Given the description of an element on the screen output the (x, y) to click on. 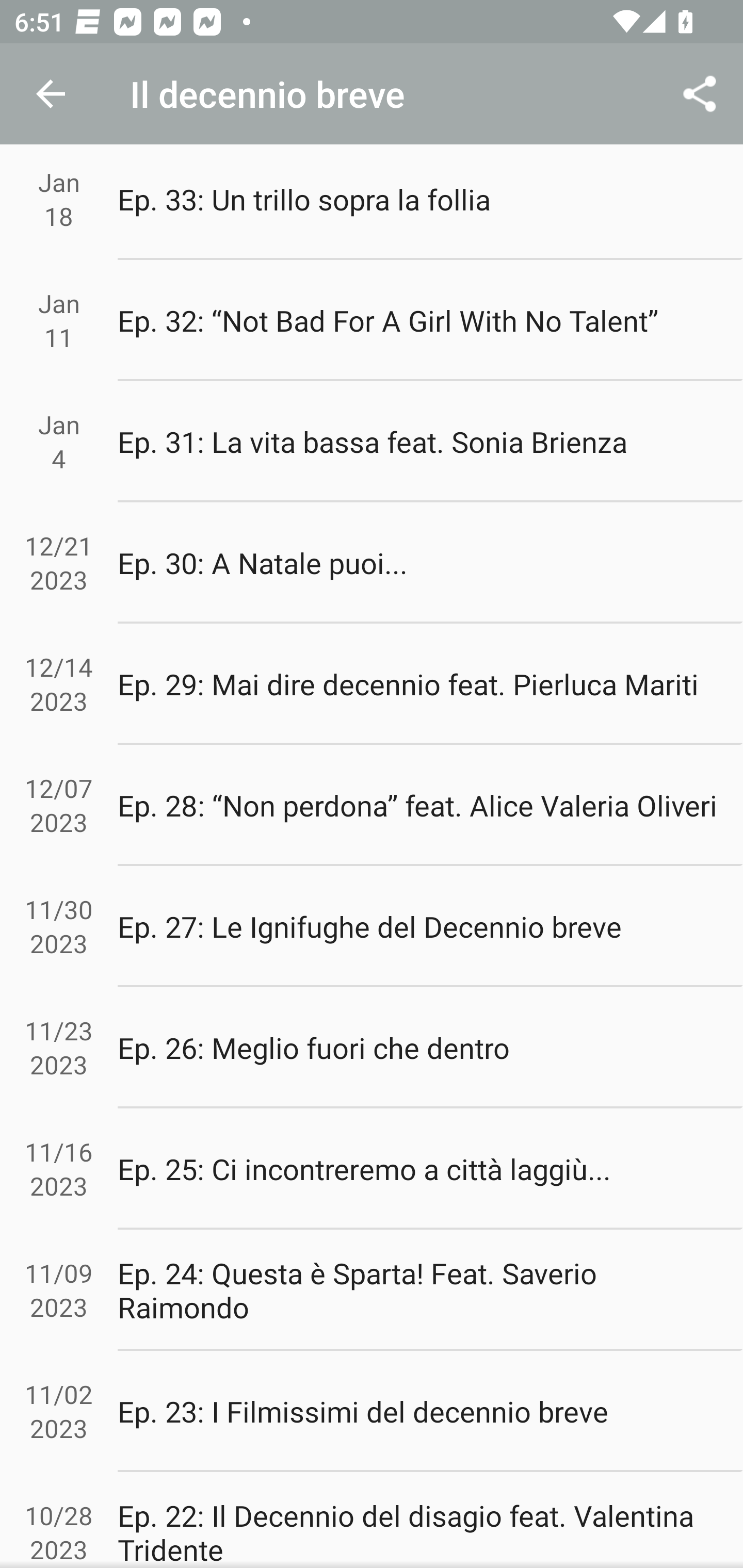
Jan 25 Ep. 34: 2011-2021: che futuro ci aspettava? (371, 90)
Navigate up (50, 93)
Share... (699, 93)
Jan 18 Ep. 33: Un trillo sopra la follia (371, 198)
Jan 11 Ep. 32: “Not Bad For A Girl With No Talent” (371, 320)
Jan 4 Ep. 31: La vita bassa feat. Sonia Brienza (371, 441)
12/21 2023 Ep. 30: A Natale puoi... (371, 562)
11/30 2023 Ep. 27: Le Ignifughe del Decennio breve (371, 926)
11/23 2023 Ep. 26: Meglio fuori che dentro (371, 1047)
11/02 2023 Ep. 23: I Filmissimi del decennio breve (371, 1411)
